Given the description of an element on the screen output the (x, y) to click on. 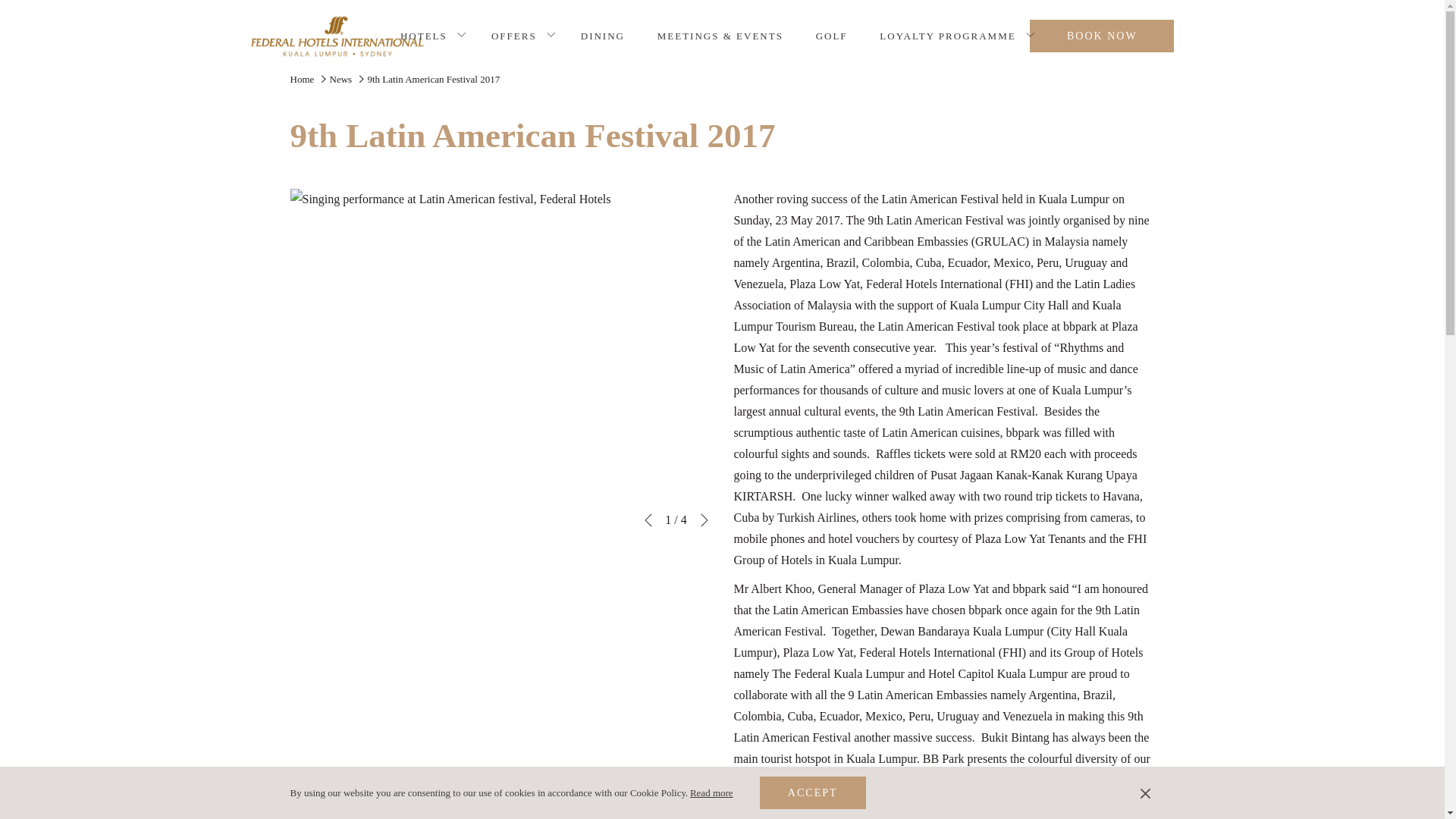
Read more (711, 792)
LOYALTY PROGRAMME (947, 35)
HOTELS (424, 35)
DINING (602, 35)
ACCEPT (813, 792)
OFFERS (513, 35)
GOLF (831, 35)
Back to the homepage (337, 34)
